Given the description of an element on the screen output the (x, y) to click on. 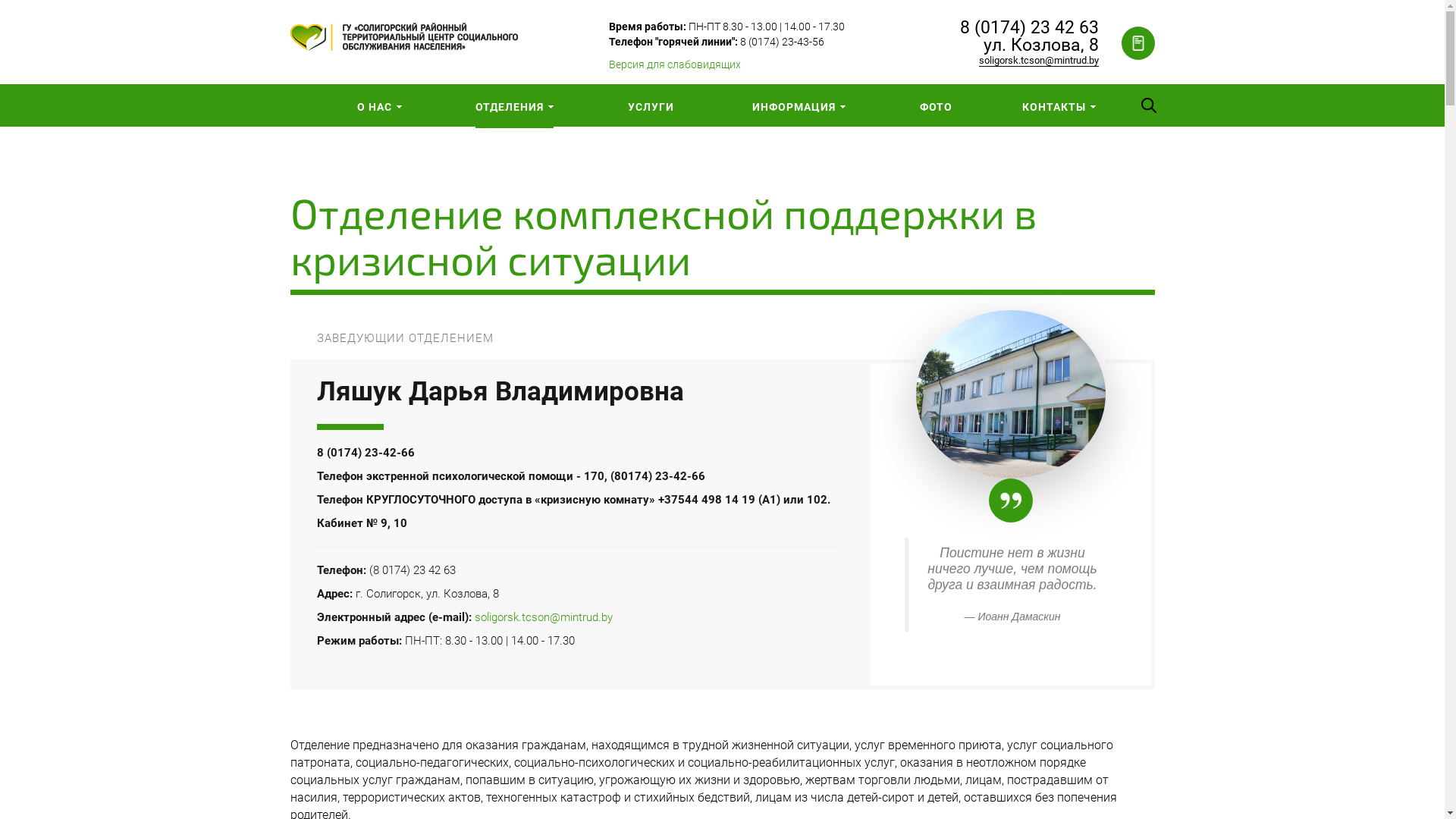
soligorsk.tcson@mintrud.by Element type: text (1038, 60)
soligorsk.tcson@mintrud.by Element type: text (543, 617)
